Given the description of an element on the screen output the (x, y) to click on. 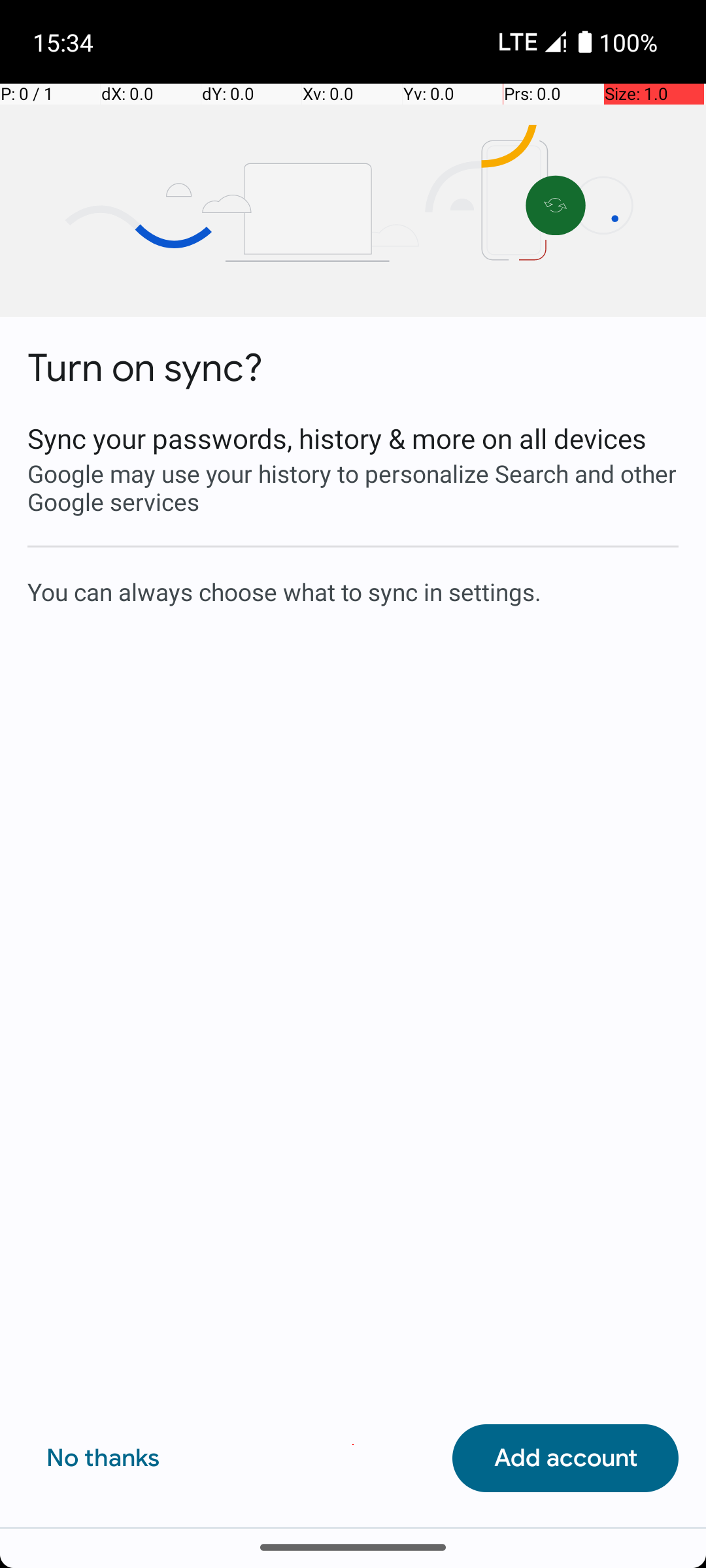
No thanks Element type: android.widget.Button (102, 1458)
Add account Element type: android.widget.Button (565, 1458)
Turn on sync? Element type: android.widget.TextView (144, 368)
Sync your passwords, history & more on all devices Element type: android.widget.TextView (352, 437)
Google may use your history to personalize Search and other Google services Element type: android.widget.TextView (352, 487)
You can always choose what to sync in settings. Element type: android.widget.TextView (352, 591)
